Given the description of an element on the screen output the (x, y) to click on. 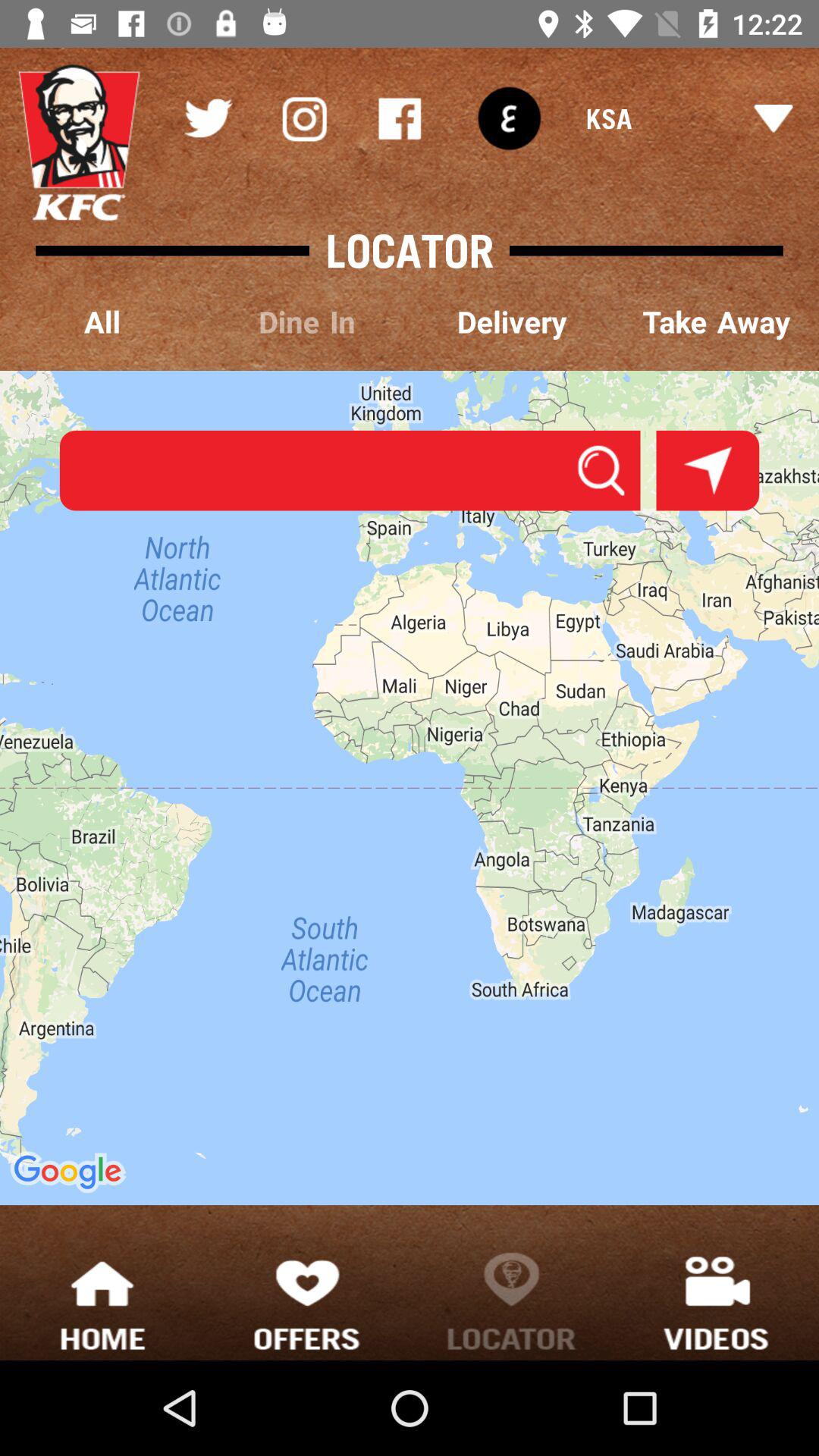
tap item at the bottom right corner (716, 1300)
